Given the description of an element on the screen output the (x, y) to click on. 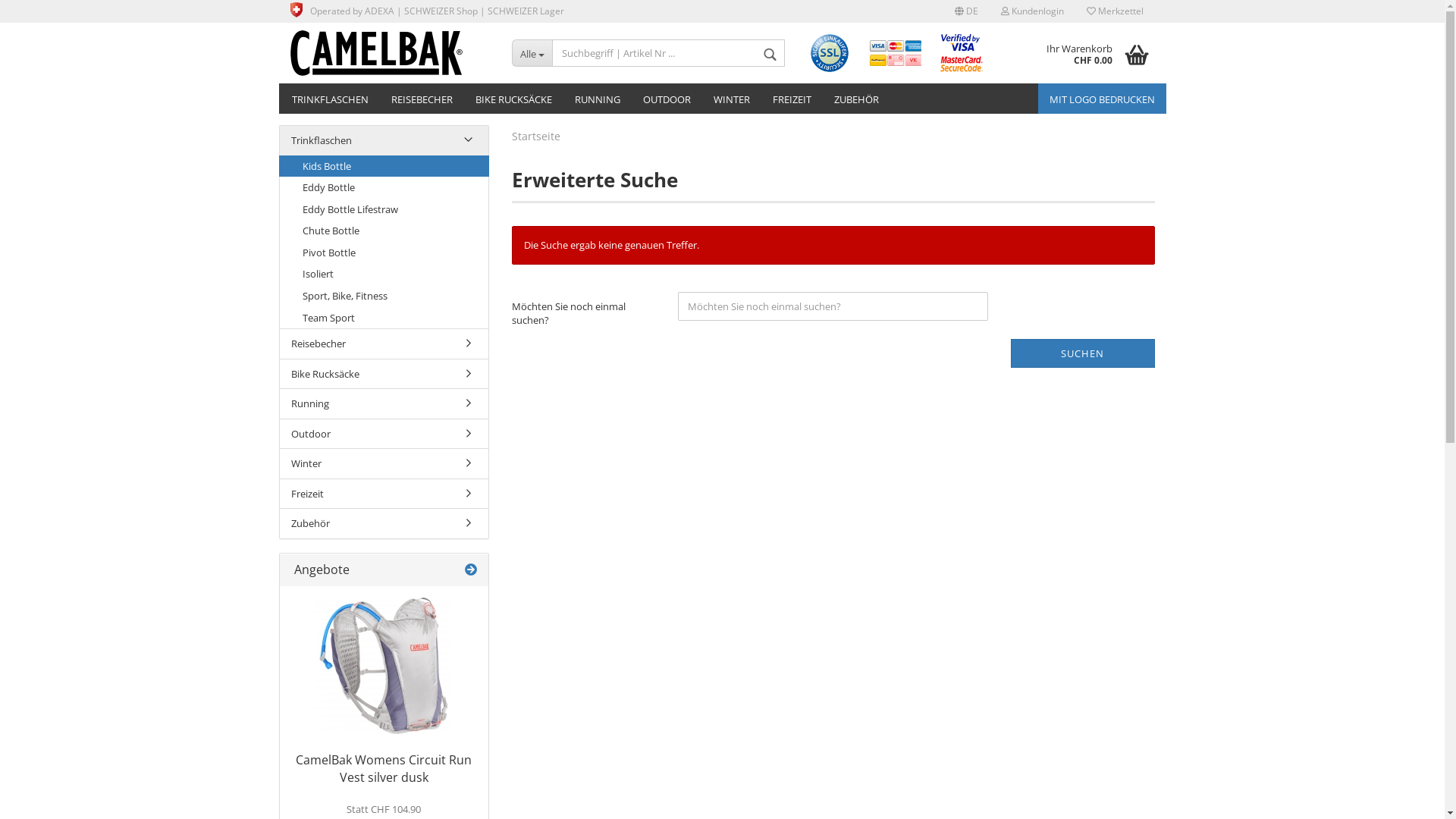
Speichern Element type: text (883, 180)
CamelBak Womens Circuit Run Vest silver dusk Element type: hover (383, 665)
SUCHEN Element type: text (1082, 353)
OUTDOOR Element type: text (665, 98)
Eddy Bottle Lifestraw Element type: text (383, 209)
Outdoor Element type: text (383, 433)
Kids Bottle Element type: text (384, 166)
Isoliert Element type: text (383, 274)
REISEBECHER Element type: text (421, 98)
MIT LOGO BEDRUCKEN Element type: text (1101, 98)
Operated by ADEXA - Schweizer Shop mit Schweizer Lager Element type: hover (295, 9)
Freizeit Element type: text (383, 493)
Chute Bottle Element type: text (383, 230)
Winter Element type: text (383, 463)
CamelBak Womens Circuit Run Vest silver dusk Element type: text (383, 768)
TRINKFLASCHEN Element type: text (329, 98)
Ihr Warenkorb
CHF 0.00 Element type: text (1091, 52)
 Kundenlogin Element type: text (1031, 11)
 Merkzettel Element type: text (1114, 11)
FREIZEIT Element type: text (791, 98)
RUNNING Element type: text (596, 98)
Trinkflaschen Element type: text (383, 140)
WINTER Element type: text (731, 98)
Startseite Element type: text (535, 135)
Sport, Bike, Fitness Element type: text (383, 296)
DE Element type: text (966, 11)
Eddy Bottle Element type: text (383, 187)
Team Sport Element type: text (383, 317)
Alle Element type: text (531, 52)
Angebote Element type: hover (470, 569)
Reisebecher Element type: text (383, 343)
CAMELBAKSHOP.CH Element type: hover (389, 52)
Running Element type: text (383, 403)
Anmelden Element type: text (949, 185)
Operated by ADEXA | SCHWEIZER Shop | SCHWEIZER Lager Element type: text (427, 11)
Pivot Bottle Element type: text (383, 252)
